Given the description of an element on the screen output the (x, y) to click on. 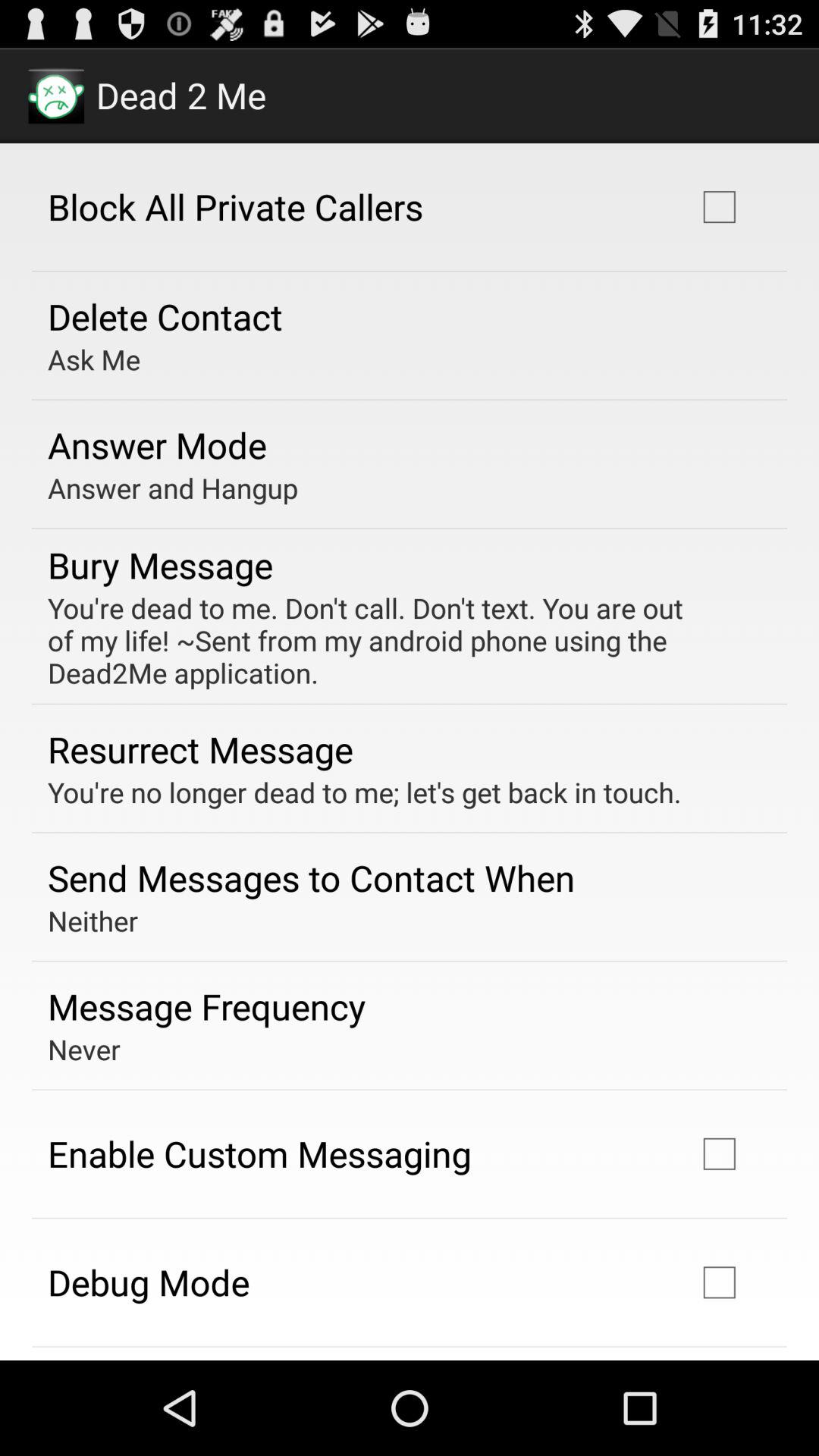
flip to the block all private item (235, 206)
